Given the description of an element on the screen output the (x, y) to click on. 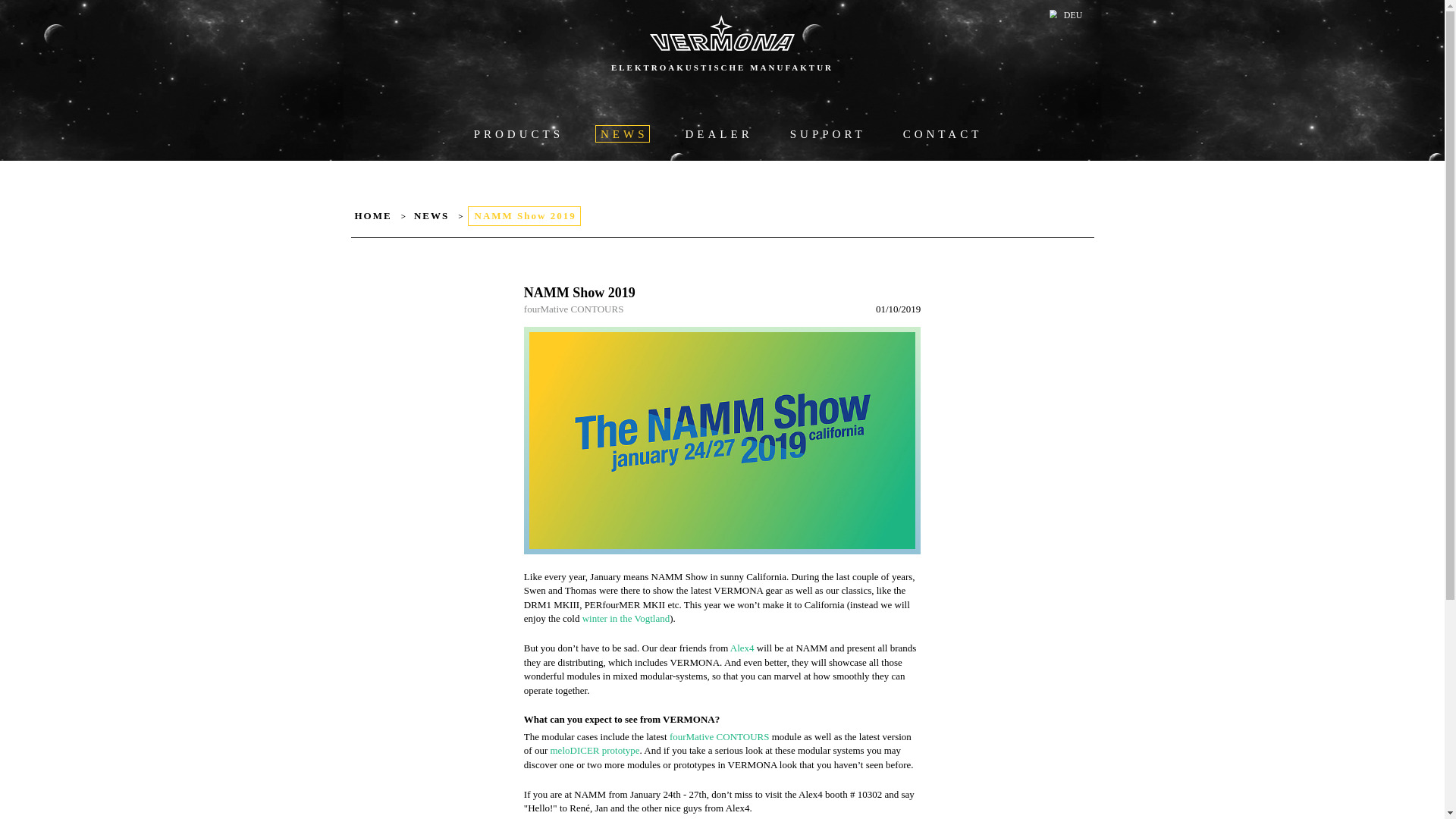
Contact (941, 133)
NEWS (431, 216)
Alex4 (742, 647)
Support (825, 133)
News (622, 133)
Products (516, 133)
DEALER (716, 133)
HOME (372, 216)
meloDICER on Instagram (595, 749)
fourMative CONTOURS (574, 308)
fourMative CONTOURS (719, 736)
DEU (1073, 14)
CONTACT (941, 133)
winter in the Vogtland (625, 618)
Alex4 homepage (742, 647)
